Given the description of an element on the screen output the (x, y) to click on. 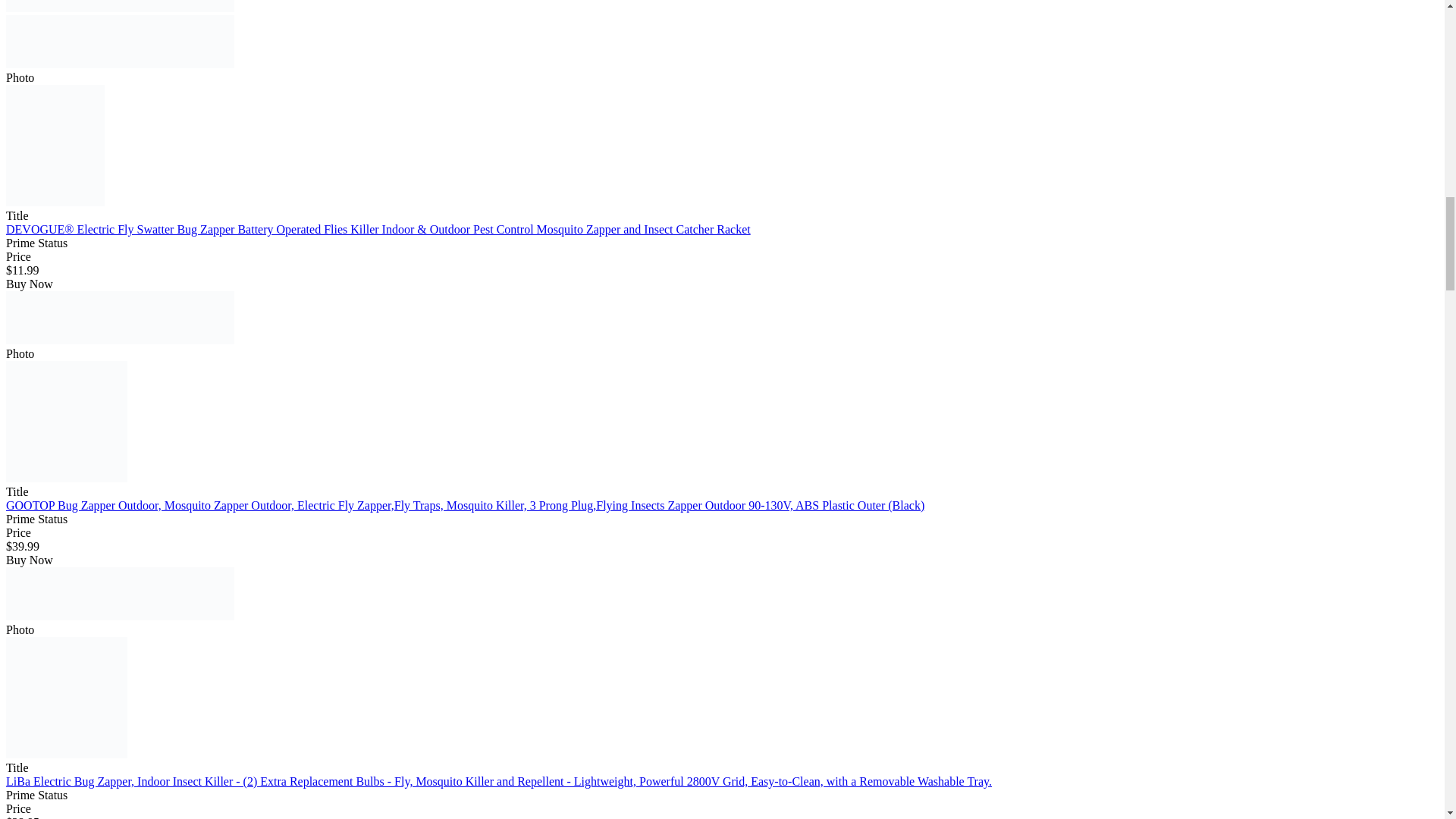
Buy On Amazon (119, 6)
Buy On Amazon (119, 317)
Buy On Amazon (119, 593)
Buy On Amazon (119, 41)
